Given the description of an element on the screen output the (x, y) to click on. 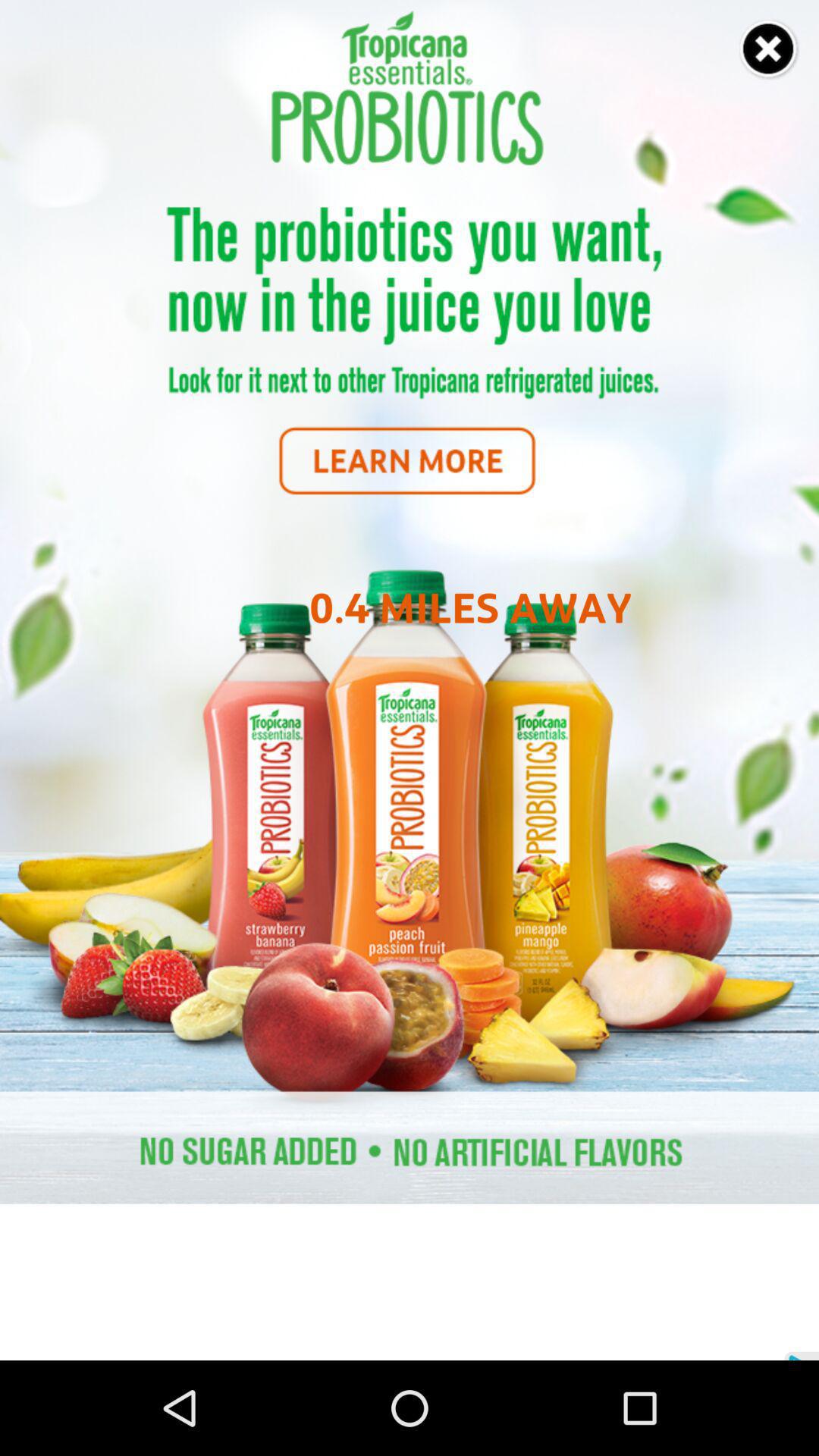
exit advertisement (769, 49)
